Given the description of an element on the screen output the (x, y) to click on. 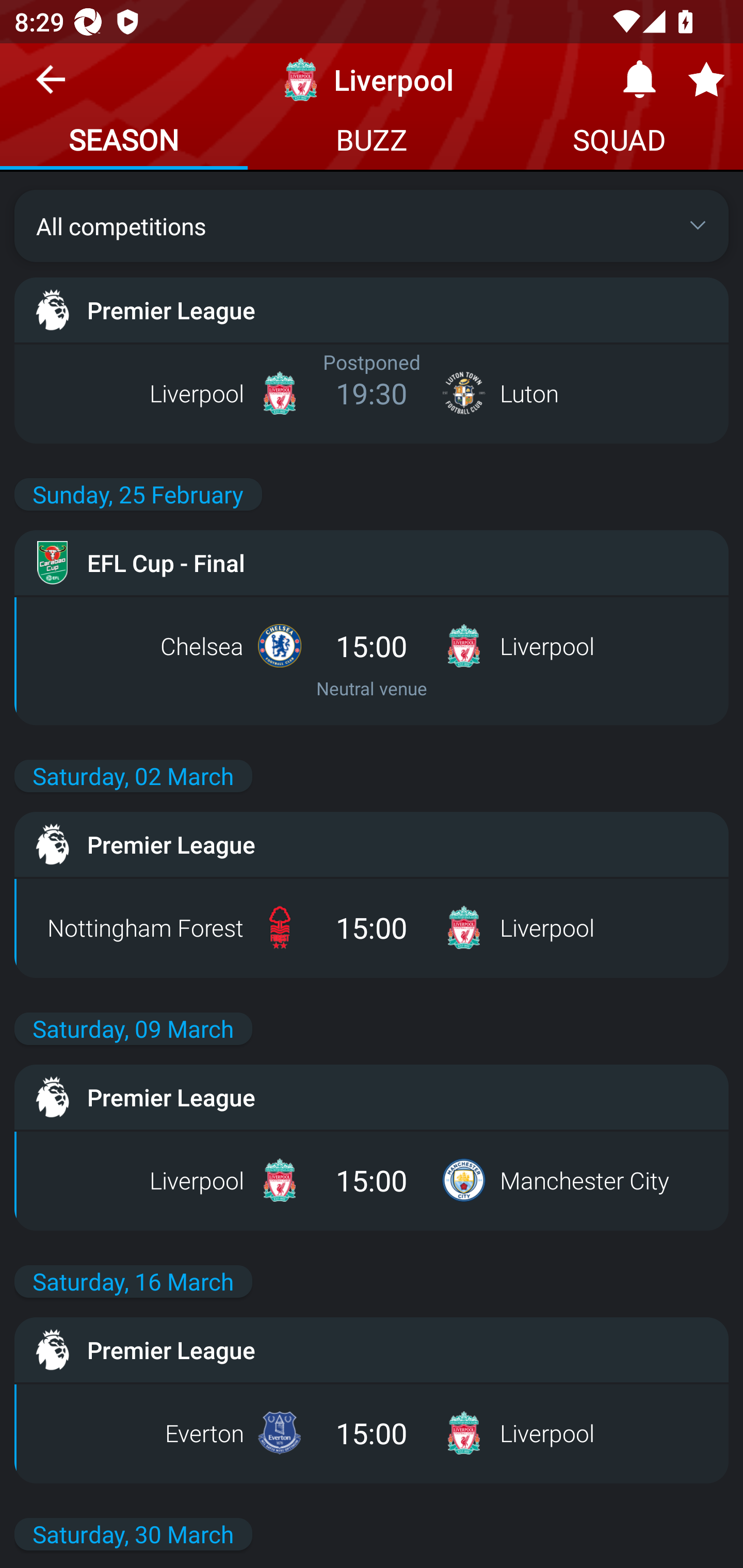
Navigate up (50, 86)
SEASON (123, 142)
BUZZ (371, 142)
SQUAD (619, 142)
All competitions (371, 225)
Premier League (371, 309)
Liverpool Postponed 19:30 Luton (371, 392)
EFL Cup - Final (371, 562)
Chelsea 15:00 Liverpool Neutral venue (371, 659)
Premier League (371, 844)
Nottingham Forest 15:00 Liverpool (371, 927)
Premier League (371, 1096)
Liverpool 15:00 Manchester City (371, 1179)
Premier League (371, 1349)
Everton 15:00 Liverpool (371, 1432)
